Given the description of an element on the screen output the (x, y) to click on. 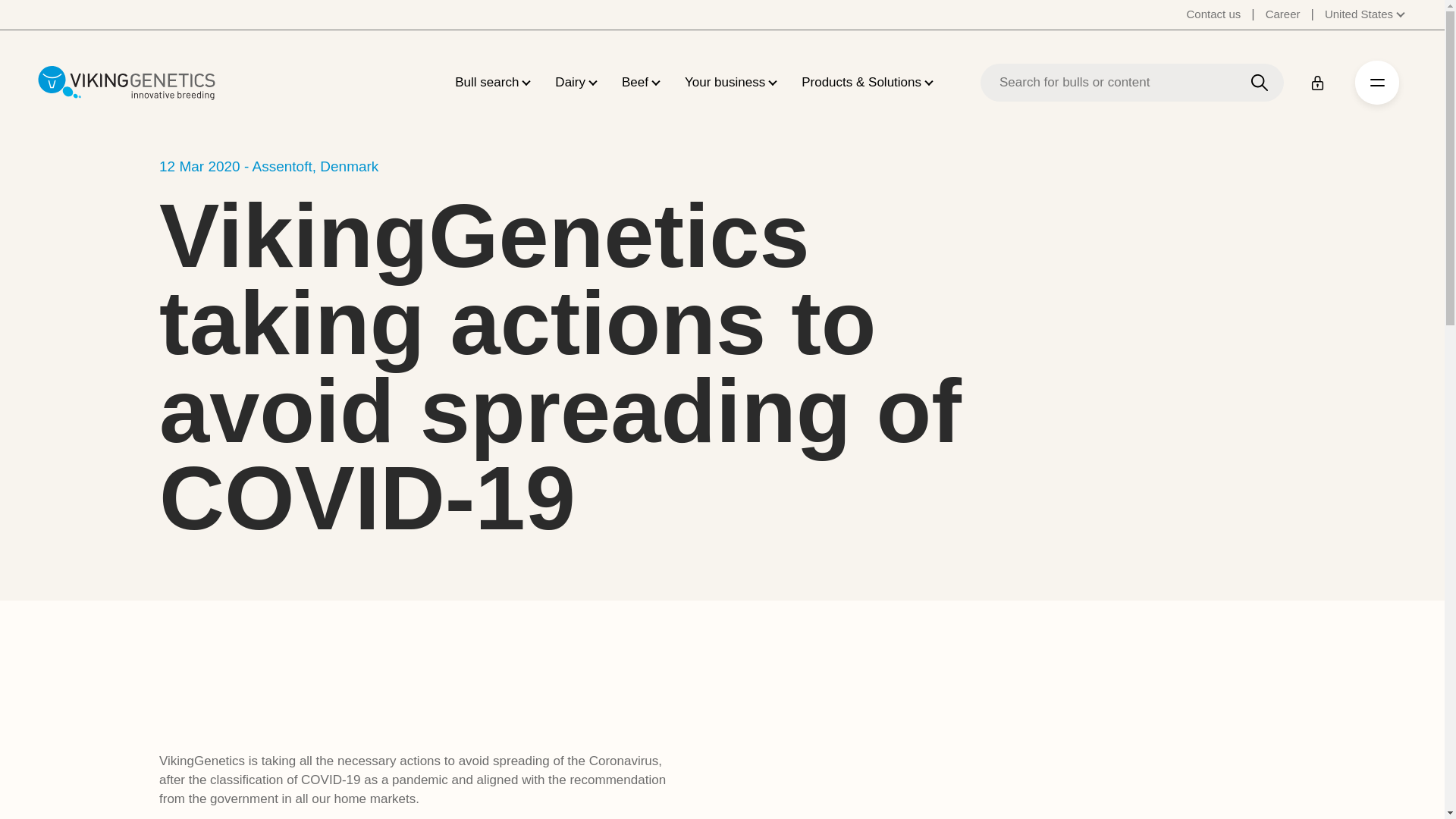
Viking Genetics - innovative breeding (126, 82)
Career (1282, 13)
Beef (634, 83)
Your business (724, 83)
Viking Genetics - innovative breeding (126, 82)
Dairy (569, 83)
Contact us (1213, 13)
Bull search (486, 83)
United States (1365, 13)
